Given the description of an element on the screen output the (x, y) to click on. 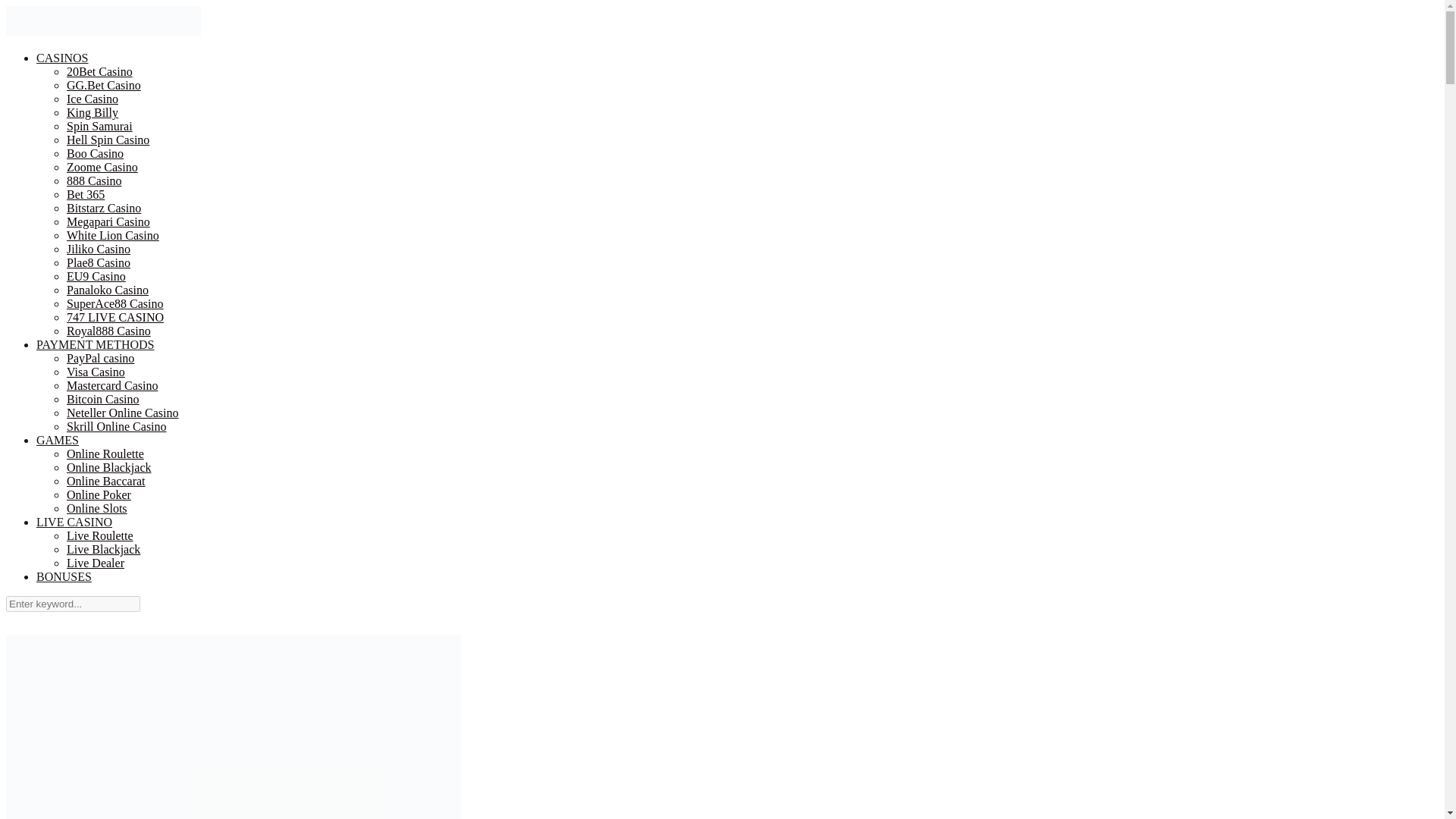
White Lion Casino (112, 235)
Bitstarz Casino (103, 208)
CASINOS (61, 57)
Jiliko Casino (98, 249)
Online Baccarat (105, 481)
LIVE CASINO (74, 521)
Zoome Casino (102, 167)
Megapari Casino (107, 222)
Mastercard Casino (111, 386)
Plae8 Casino (98, 263)
